Given the description of an element on the screen output the (x, y) to click on. 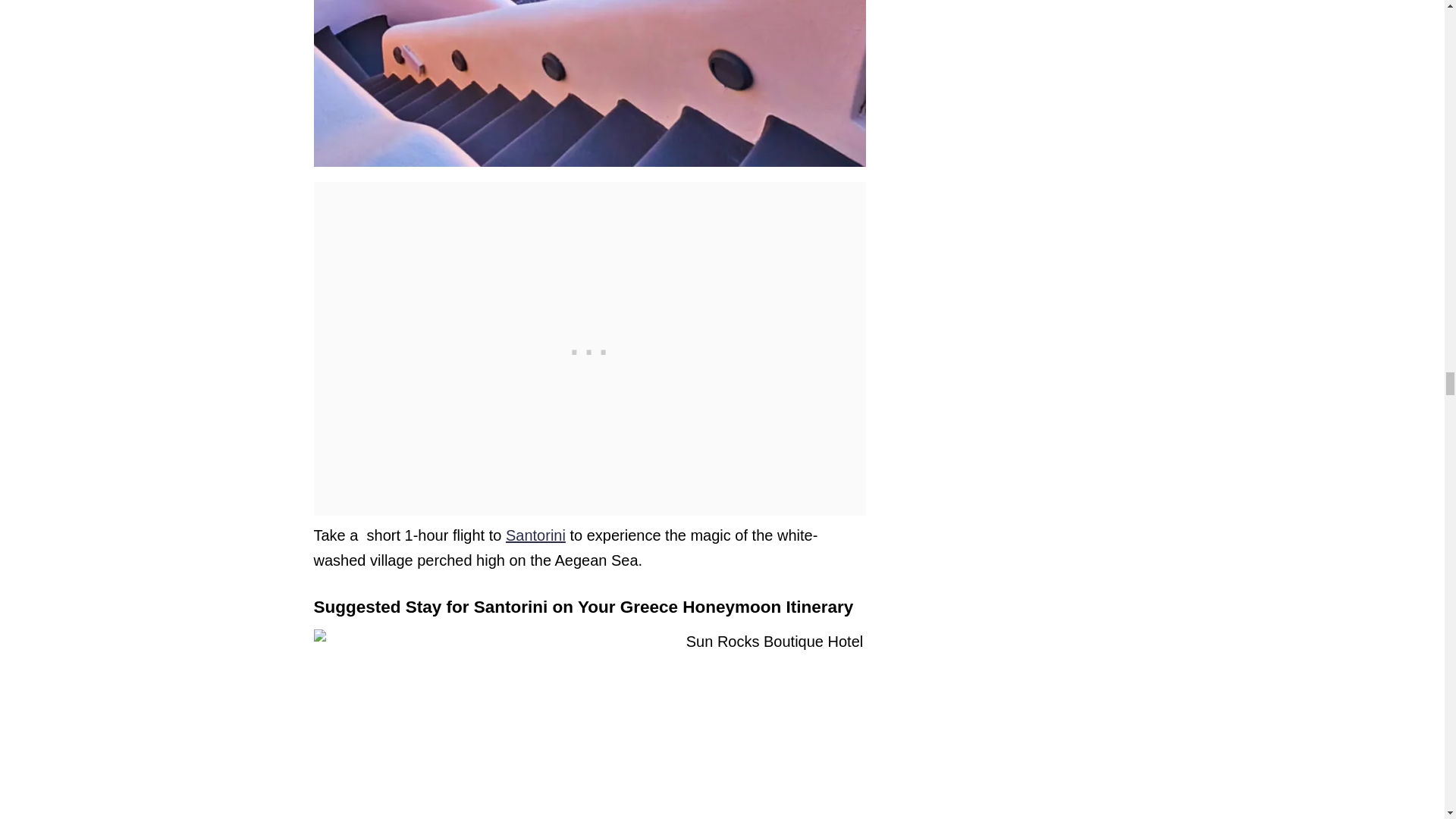
Santorini (535, 535)
